Given the description of an element on the screen output the (x, y) to click on. 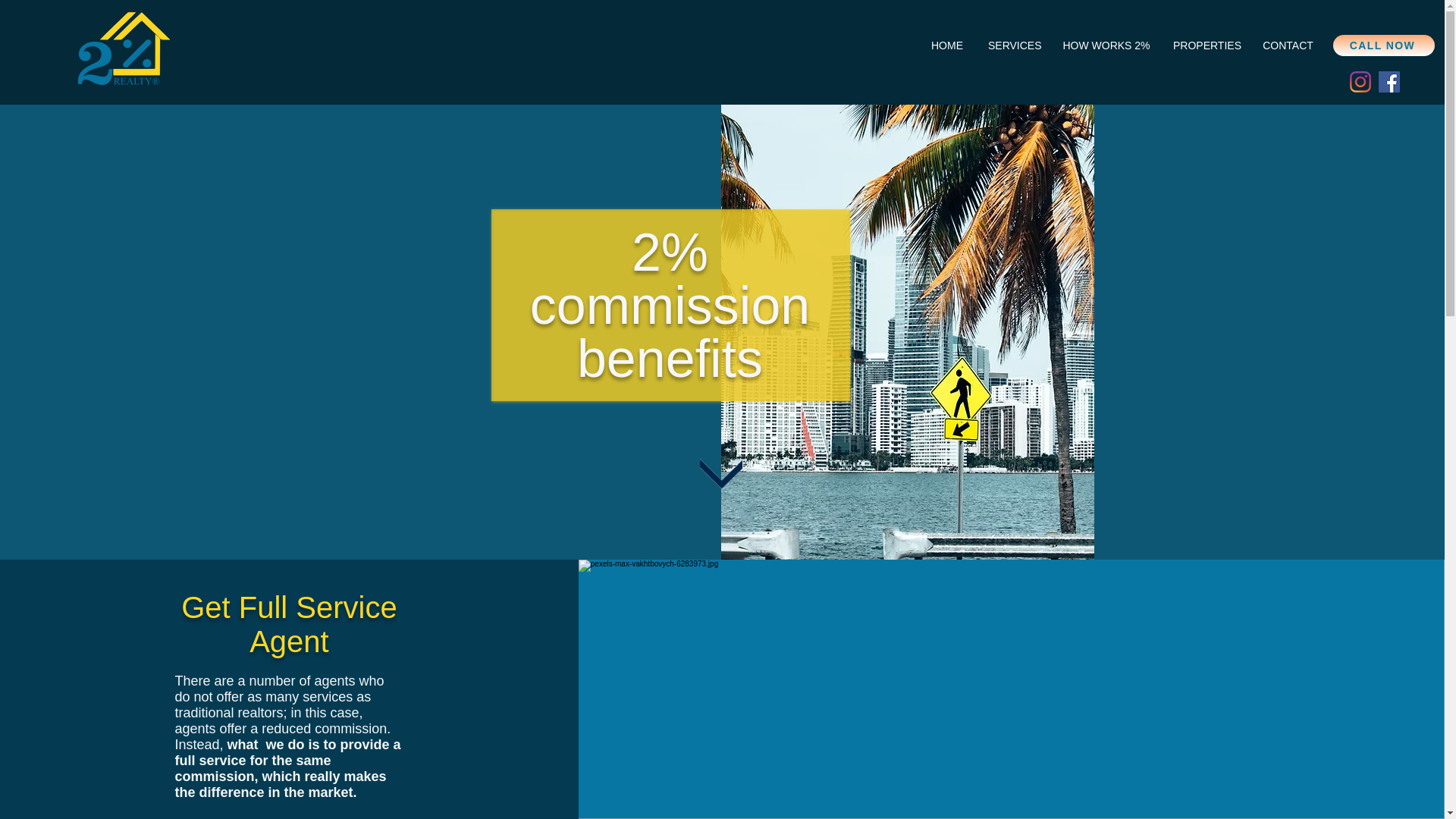
SERVICES (1013, 45)
CONTACT (1287, 45)
HOME (946, 45)
PROPERTIES (1205, 45)
CALL NOW (1383, 45)
